Given the description of an element on the screen output the (x, y) to click on. 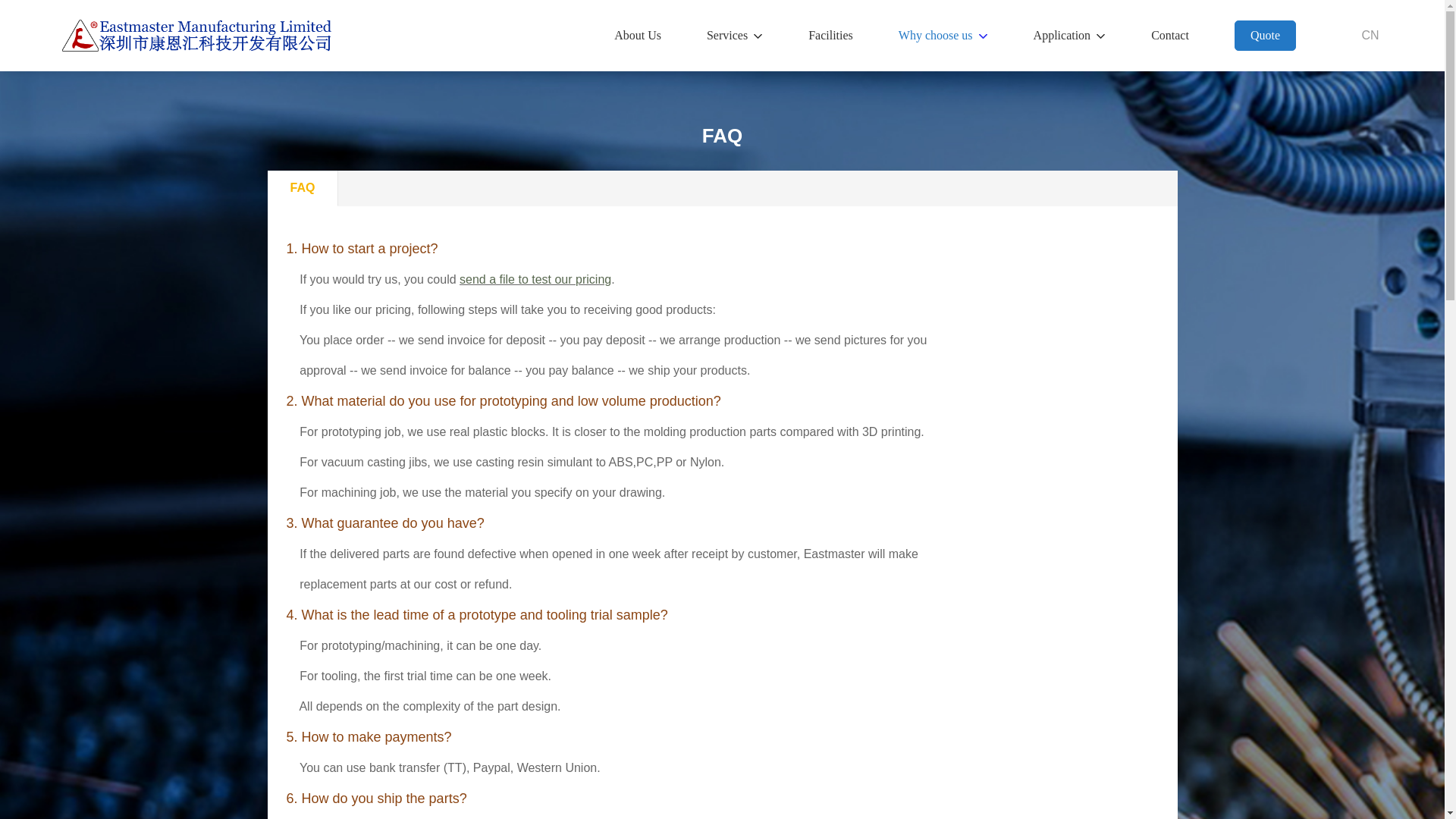
Why choose us (935, 35)
send a file to test our pricing (535, 278)
CN (1370, 35)
Quote (1264, 35)
